Given the description of an element on the screen output the (x, y) to click on. 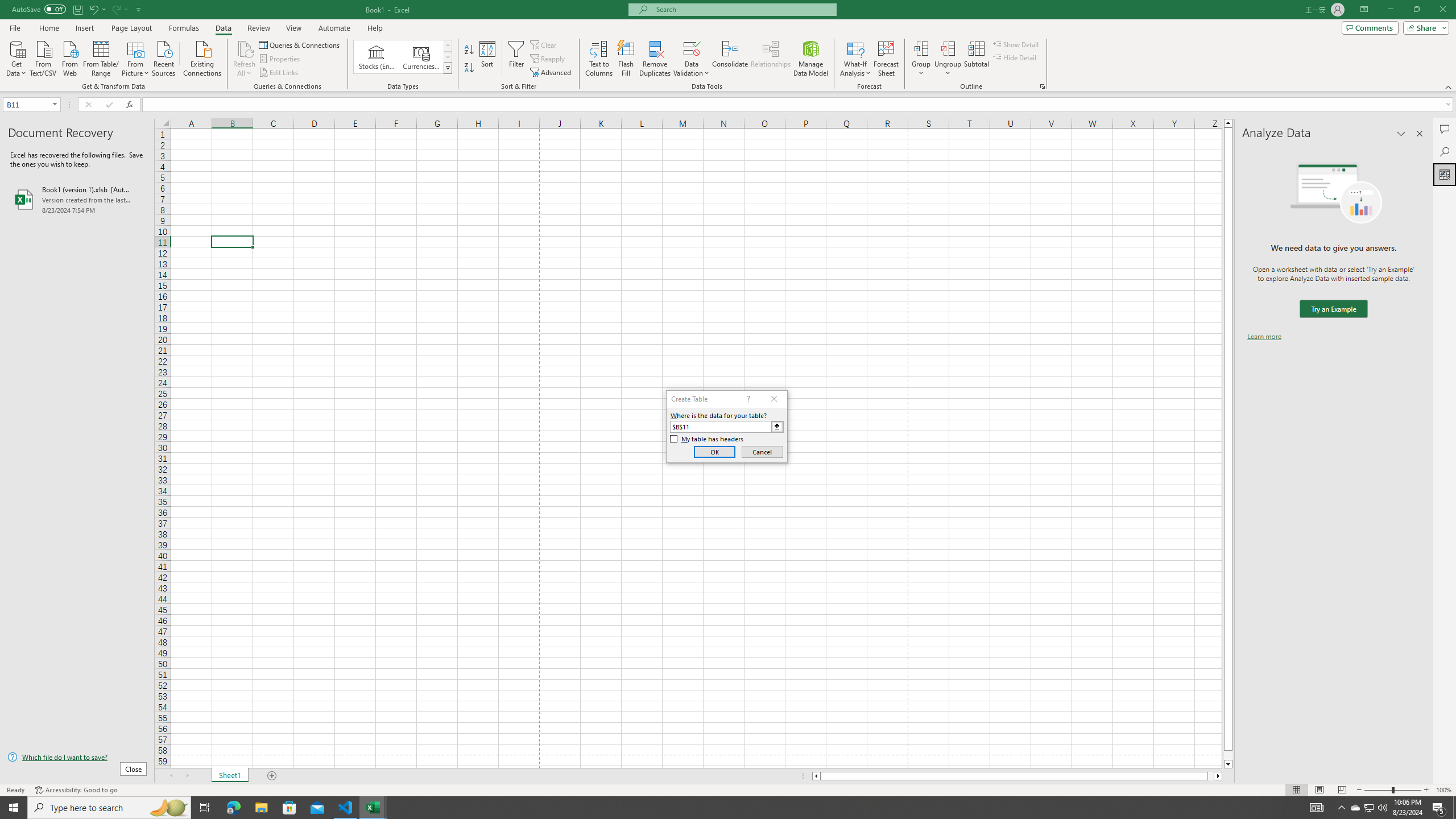
File Tab (15, 27)
What-If Analysis (855, 58)
Share (1423, 27)
Task Pane Options (1400, 133)
Filter (515, 58)
Manage Data Model (810, 58)
Column left (815, 775)
Learn more (1264, 336)
Group... (921, 58)
Reapply (548, 58)
Restore Down (1416, 9)
Class: NetUIScrollBar (1016, 775)
